Given the description of an element on the screen output the (x, y) to click on. 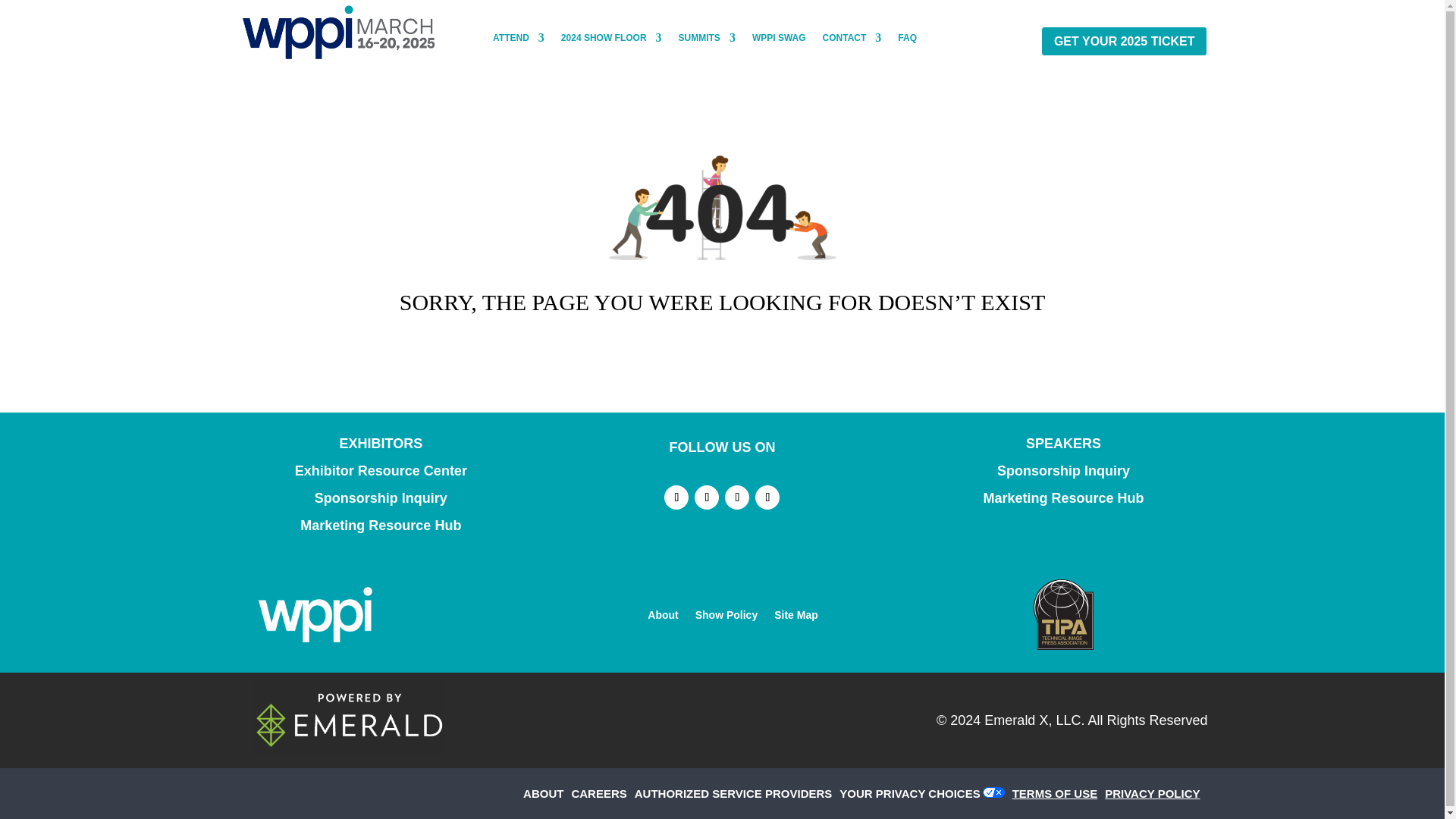
careers (601, 793)
FAQ (907, 40)
WPPI SWAG (779, 40)
Follow on Facebook (675, 497)
2024 SHOW FLOOR (611, 40)
your-privacy-choices (913, 793)
ATTEND (518, 40)
Follow on Instagram (737, 497)
privacy-policy (1156, 793)
terms-of-use (1058, 793)
